Given the description of an element on the screen output the (x, y) to click on. 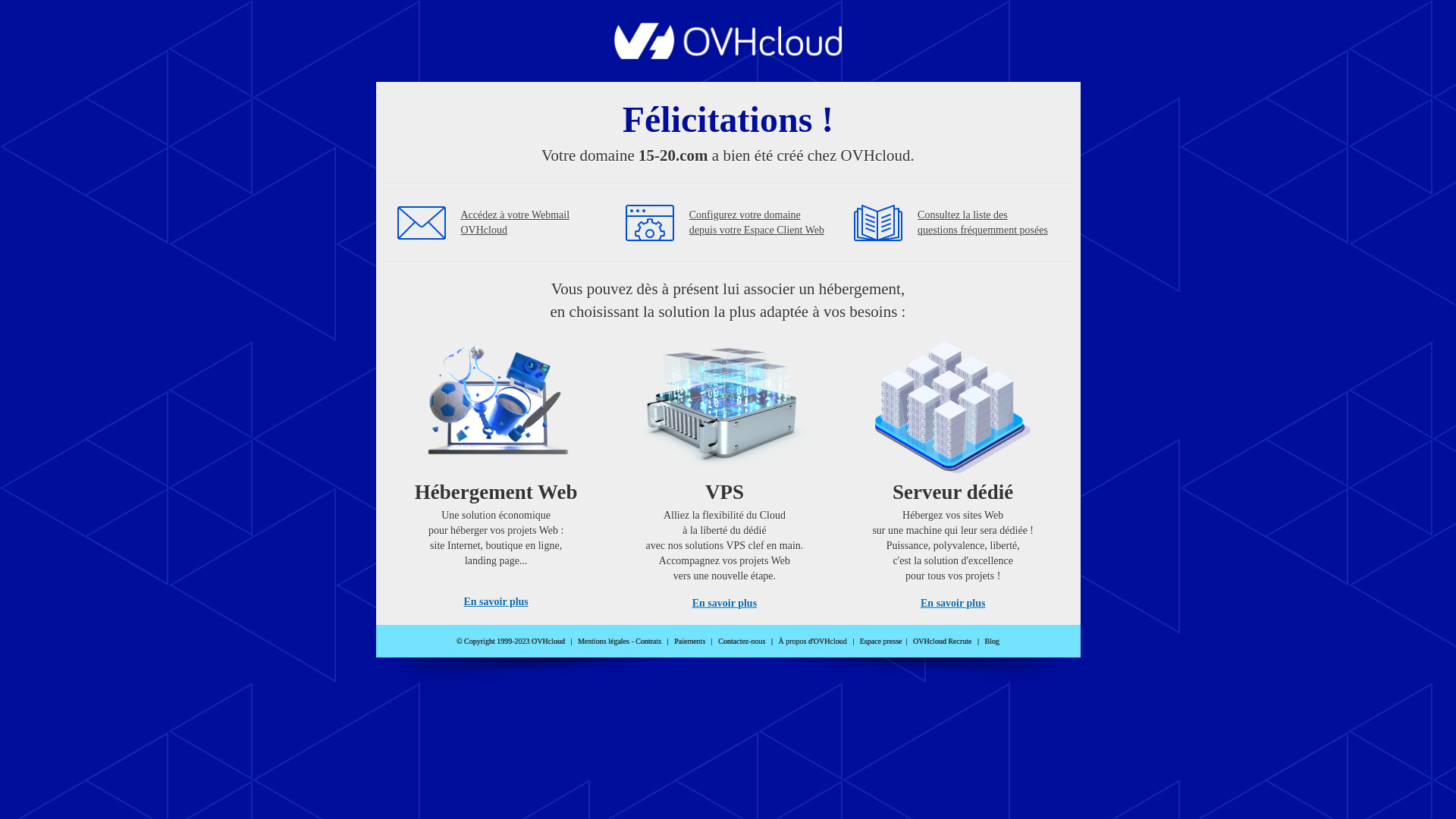
En savoir plus Element type: text (724, 602)
Blog Element type: text (992, 641)
Paiements Element type: text (689, 641)
OVHcloud Element type: hover (727, 54)
VPS Element type: hover (724, 469)
Espace presse Element type: text (880, 641)
En savoir plus Element type: text (495, 601)
Configurez votre domaine
depuis votre Espace Client Web Element type: text (756, 222)
OVHcloud Recrute Element type: text (942, 641)
Contactez-nous Element type: text (741, 641)
En savoir plus Element type: text (952, 602)
